Given the description of an element on the screen output the (x, y) to click on. 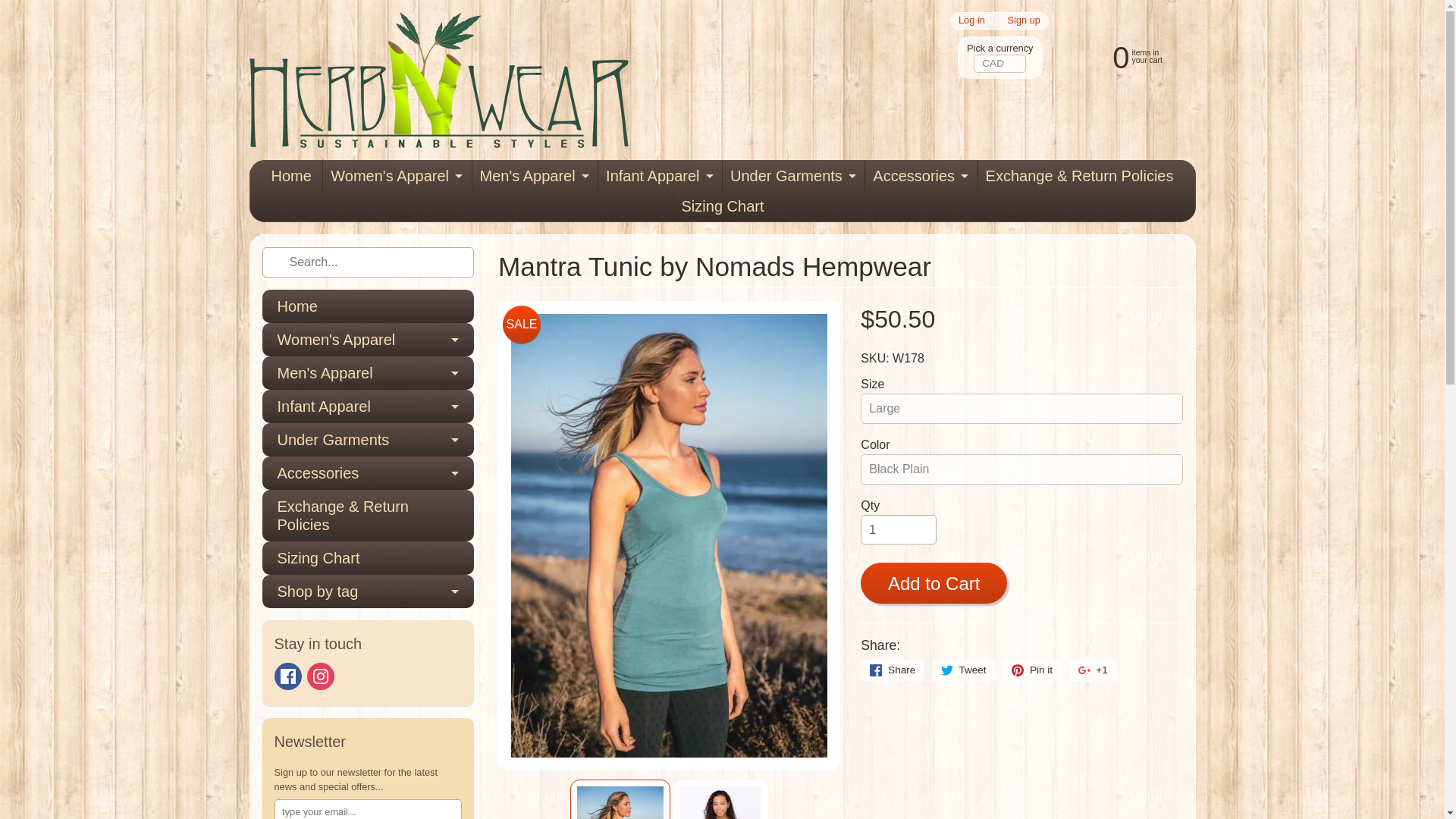
Men's Apparel (532, 175)
Log in (970, 20)
Mantra Tunic by Nomads Hempwear (720, 799)
Women's Apparel (395, 175)
Sizing Chart (722, 205)
Share on Facebook (892, 670)
Herb N' Wear (437, 80)
Instagram (1122, 56)
Accessories (320, 676)
